Given the description of an element on the screen output the (x, y) to click on. 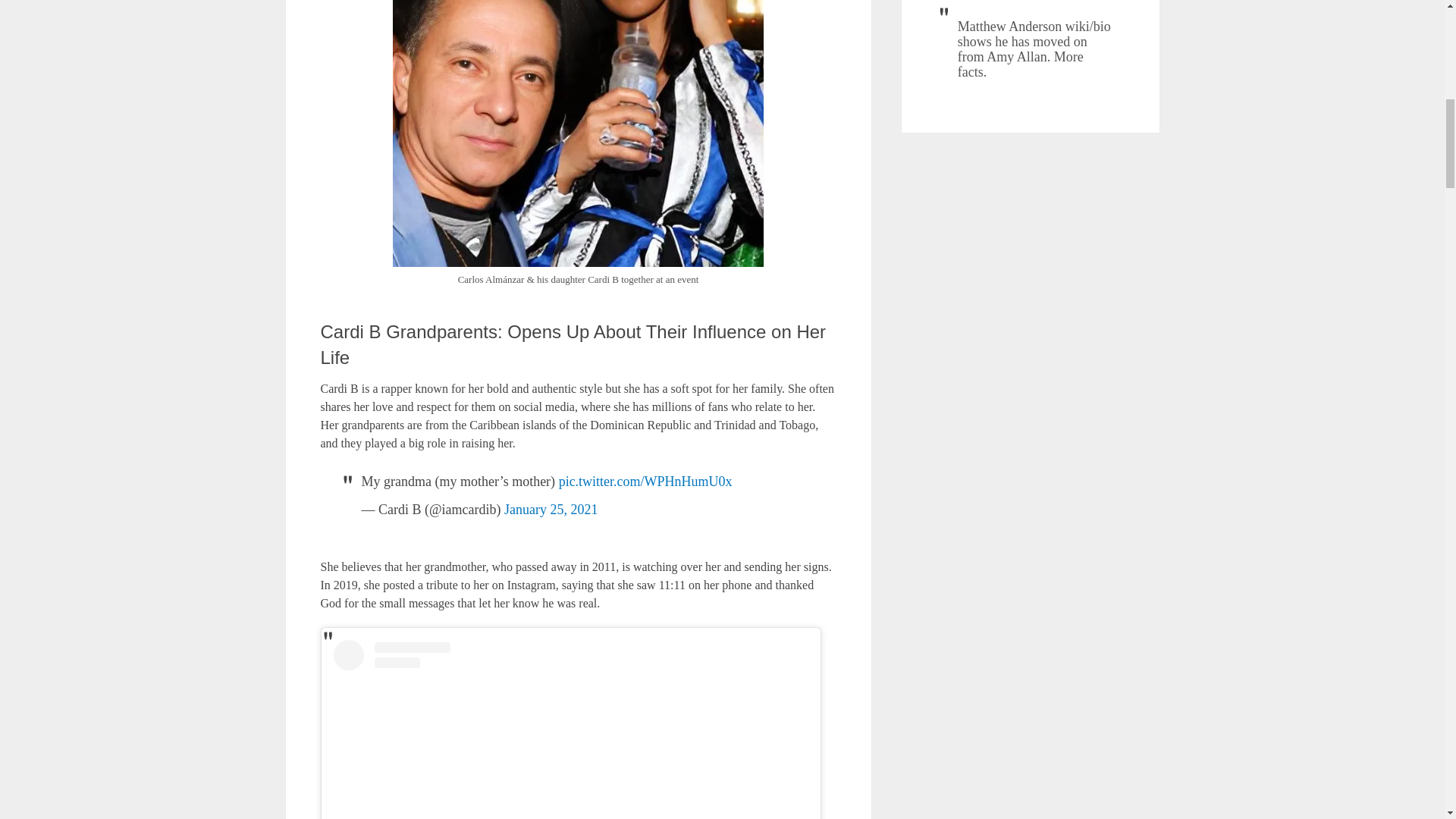
January 25, 2021 (549, 509)
View this post on Instagram (570, 729)
